Given the description of an element on the screen output the (x, y) to click on. 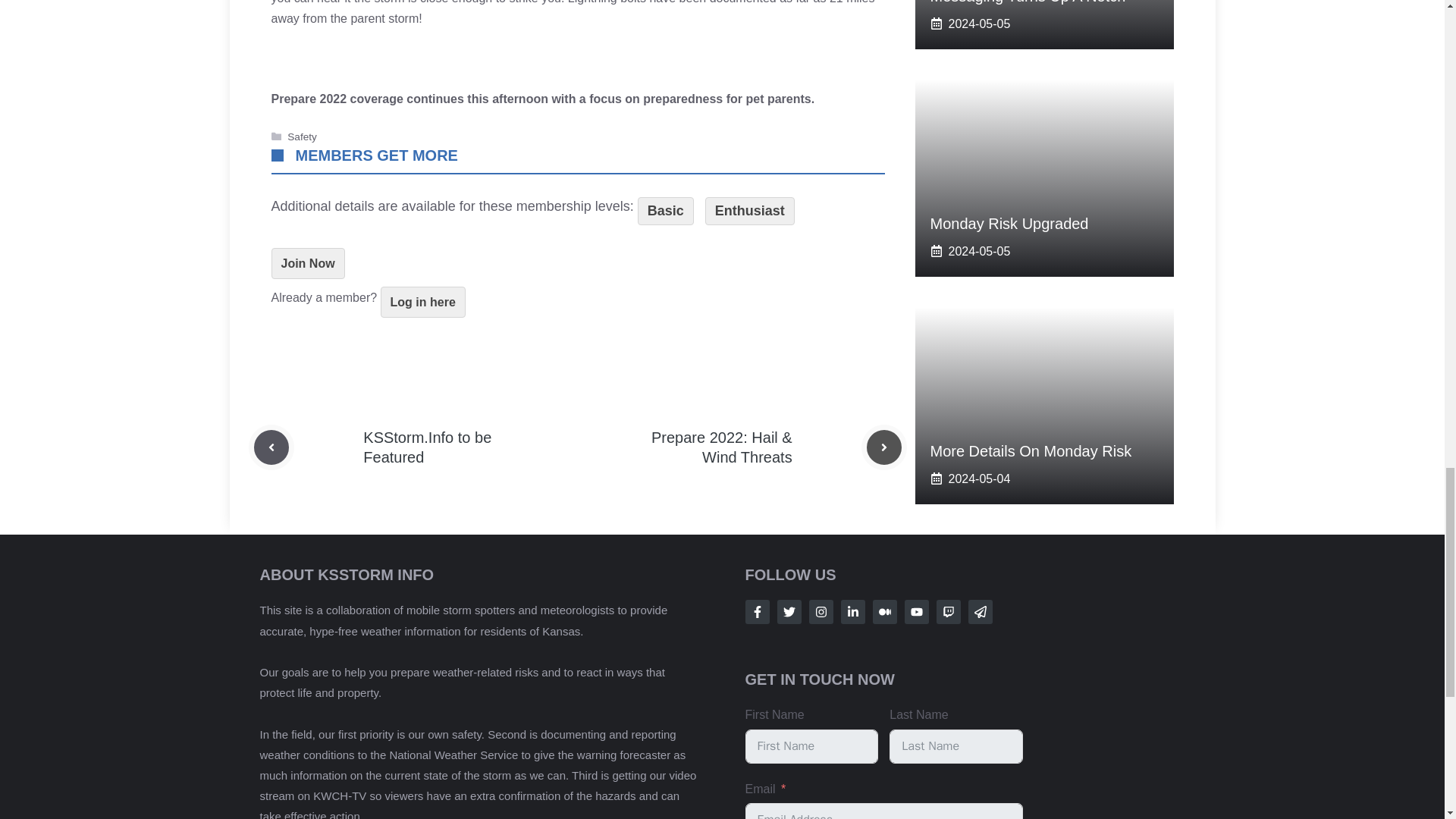
Join Now (307, 263)
Enthusiast (749, 211)
Basic (665, 211)
Safety (301, 136)
